Given the description of an element on the screen output the (x, y) to click on. 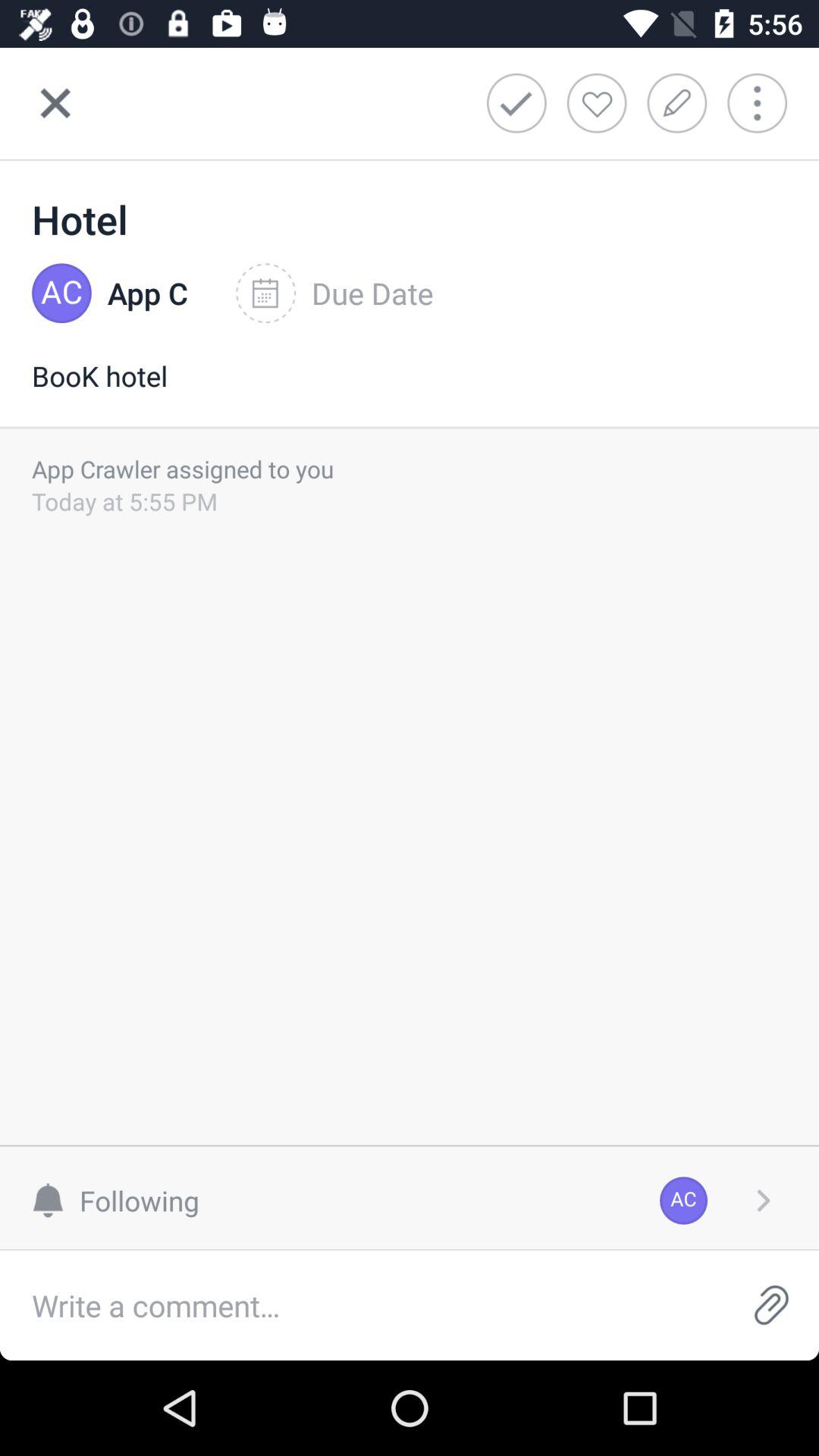
press item to the right of ac icon (763, 1200)
